Given the description of an element on the screen output the (x, y) to click on. 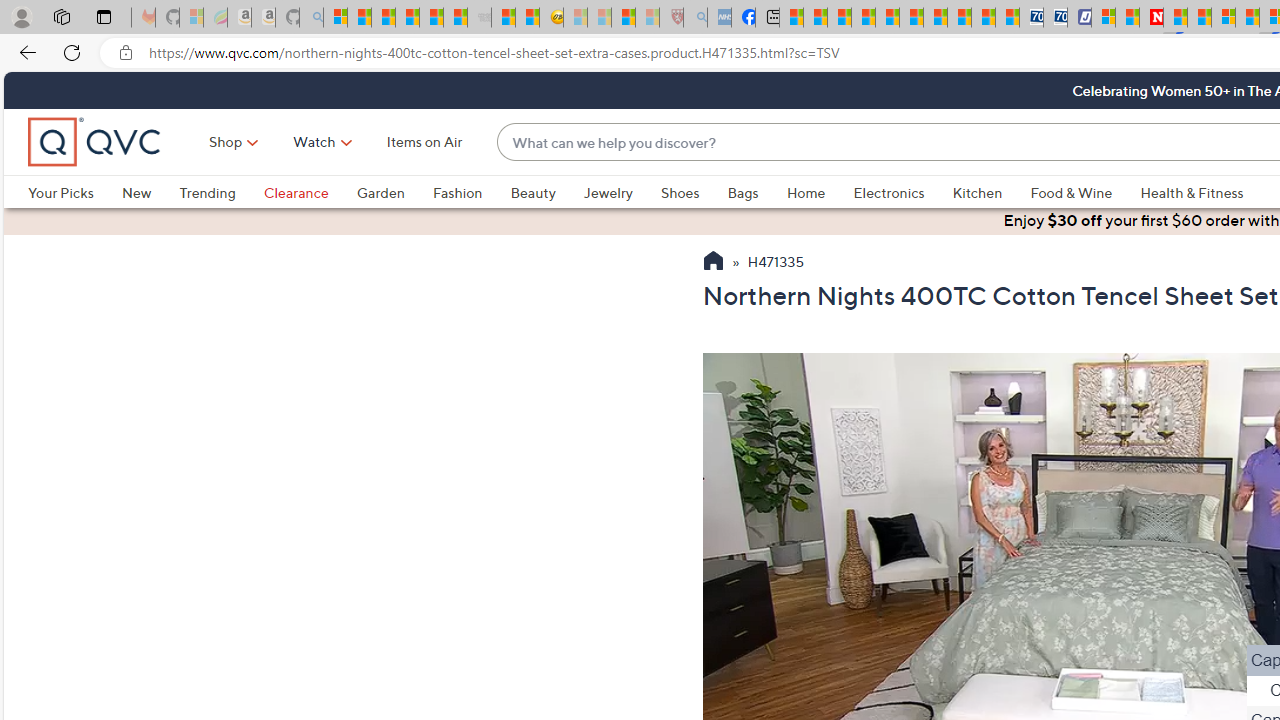
Health & Fitness (1192, 192)
12 Popular Science Lies that Must be Corrected - Sleeping (647, 17)
Garden (393, 192)
Items on Air (424, 141)
Climate Damage Becomes Too Severe To Reverse (863, 17)
Your Picks (74, 192)
